Given the description of an element on the screen output the (x, y) to click on. 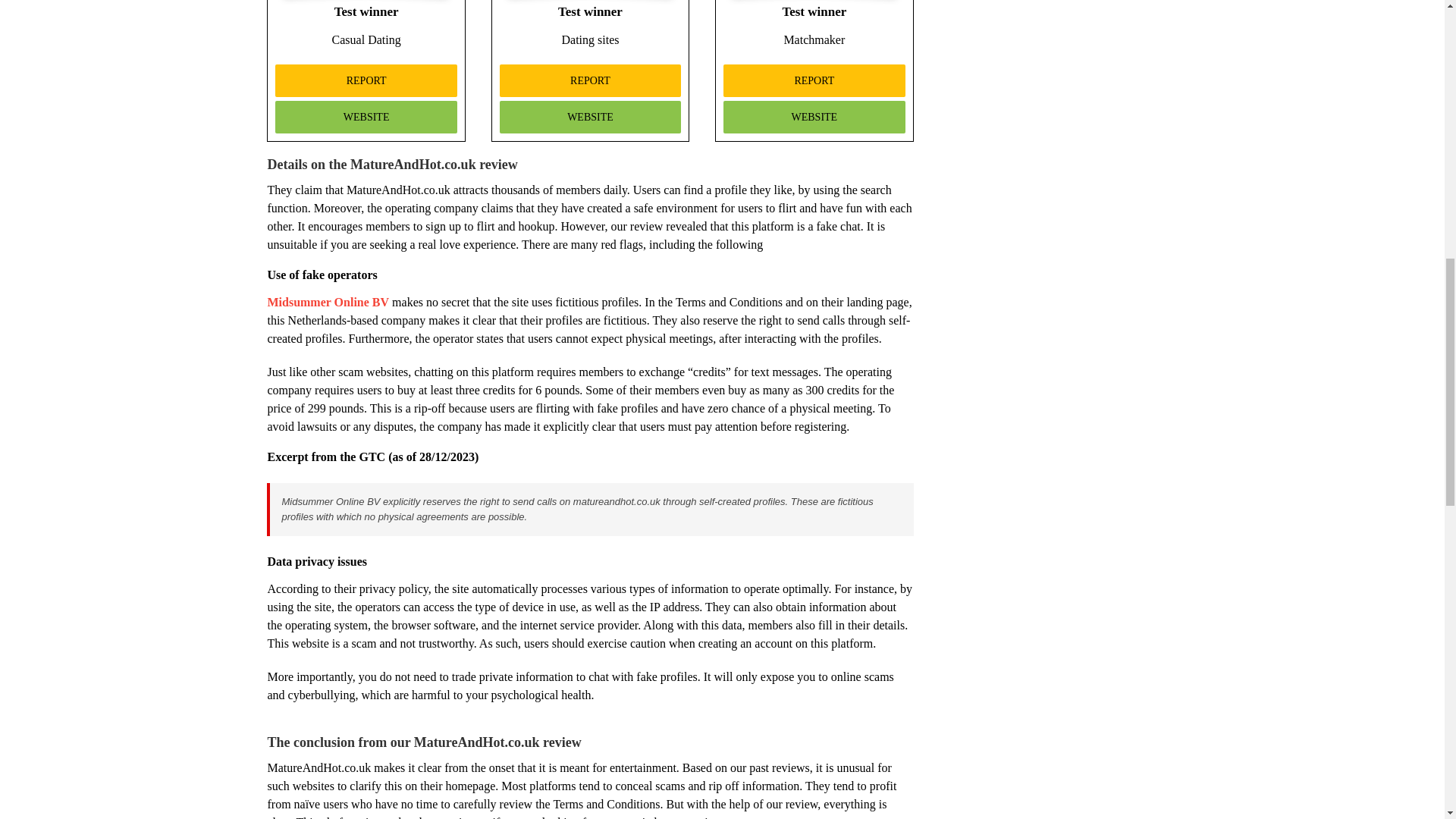
Website (366, 116)
Website (813, 116)
Website (590, 116)
Report (590, 80)
Report (366, 80)
Report (813, 80)
